Given the description of an element on the screen output the (x, y) to click on. 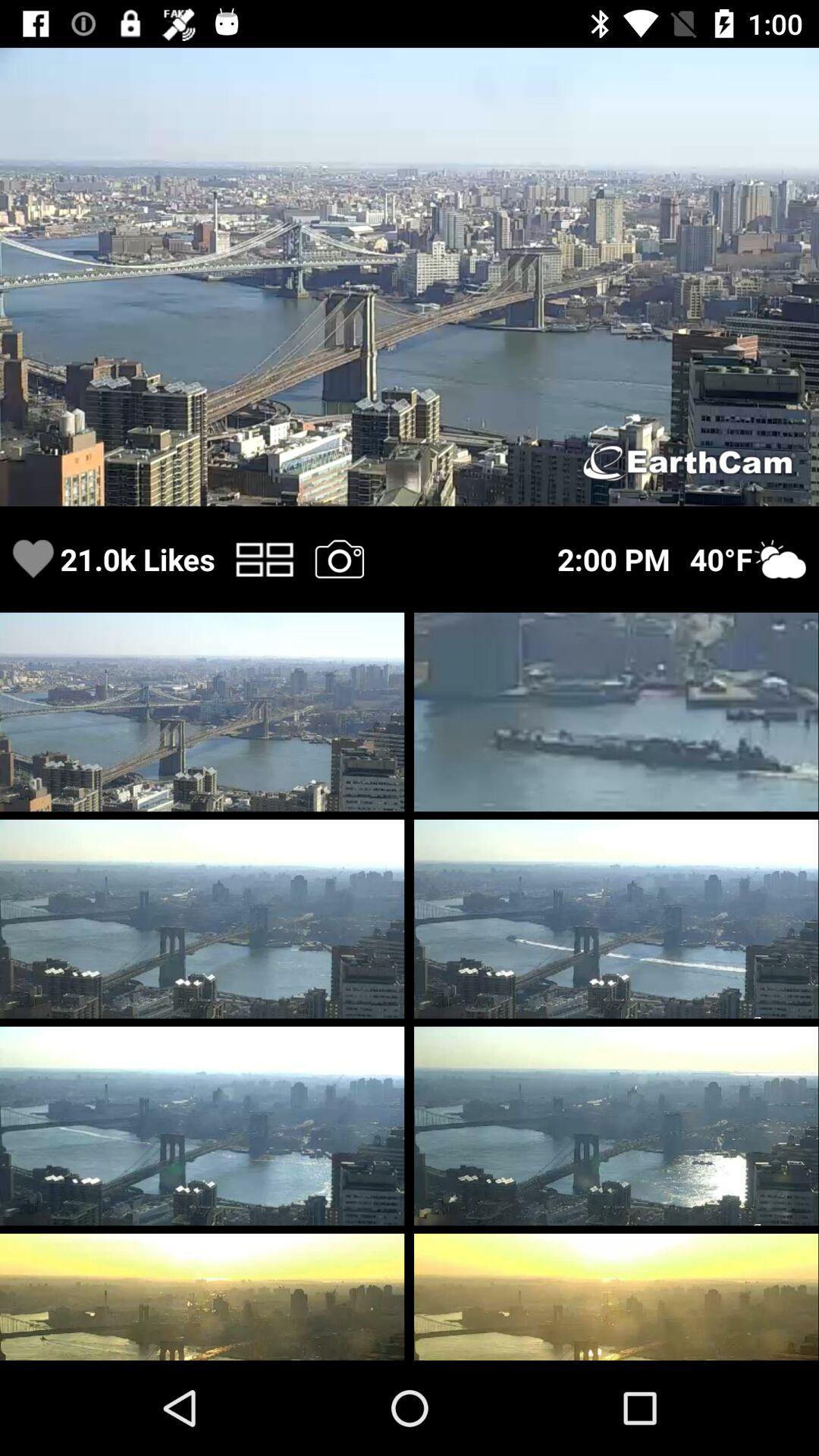
click button (264, 559)
